Given the description of an element on the screen output the (x, y) to click on. 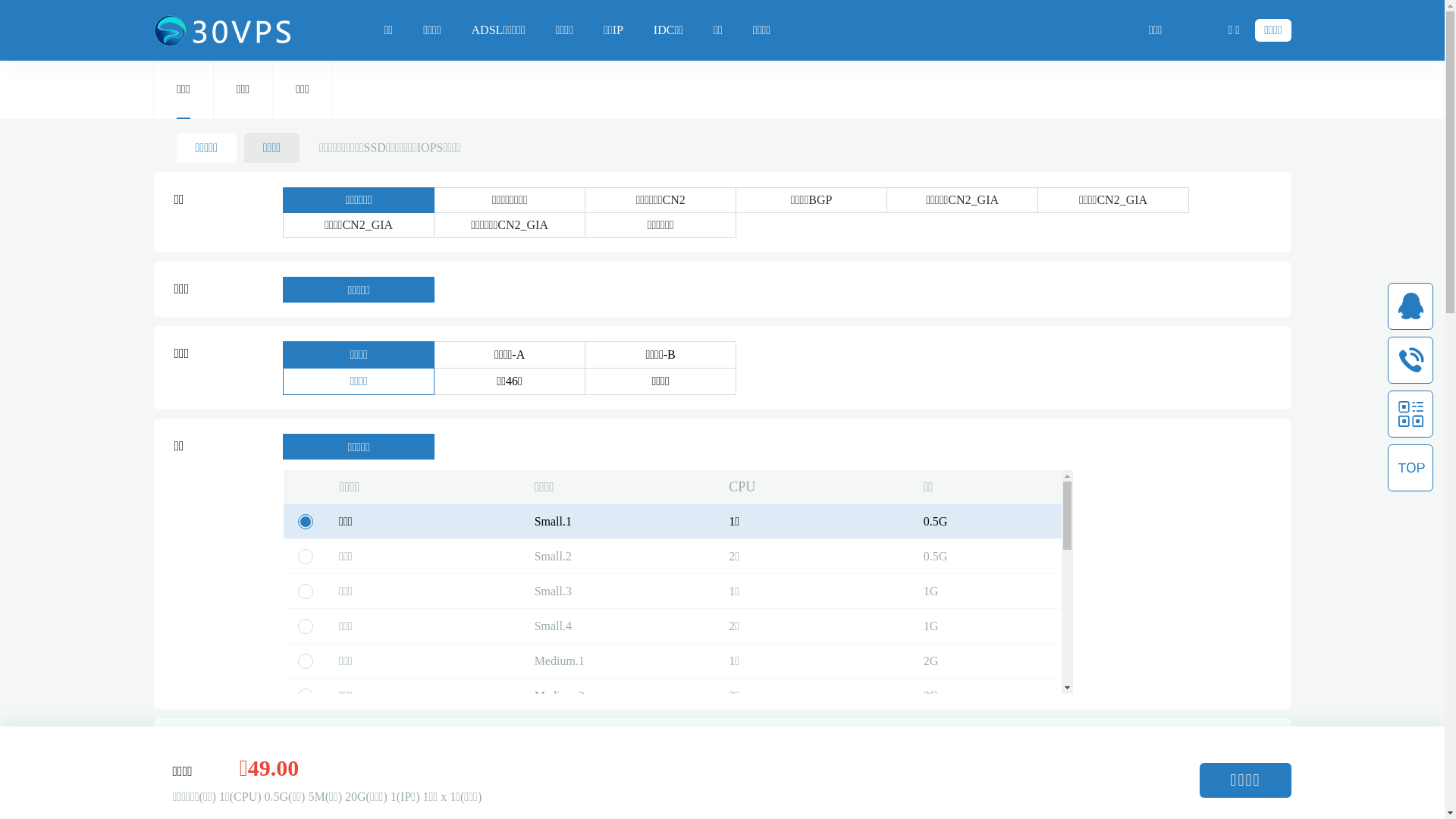
qq Element type: hover (1410, 305)
20G Element type: text (343, 779)
